Given the description of an element on the screen output the (x, y) to click on. 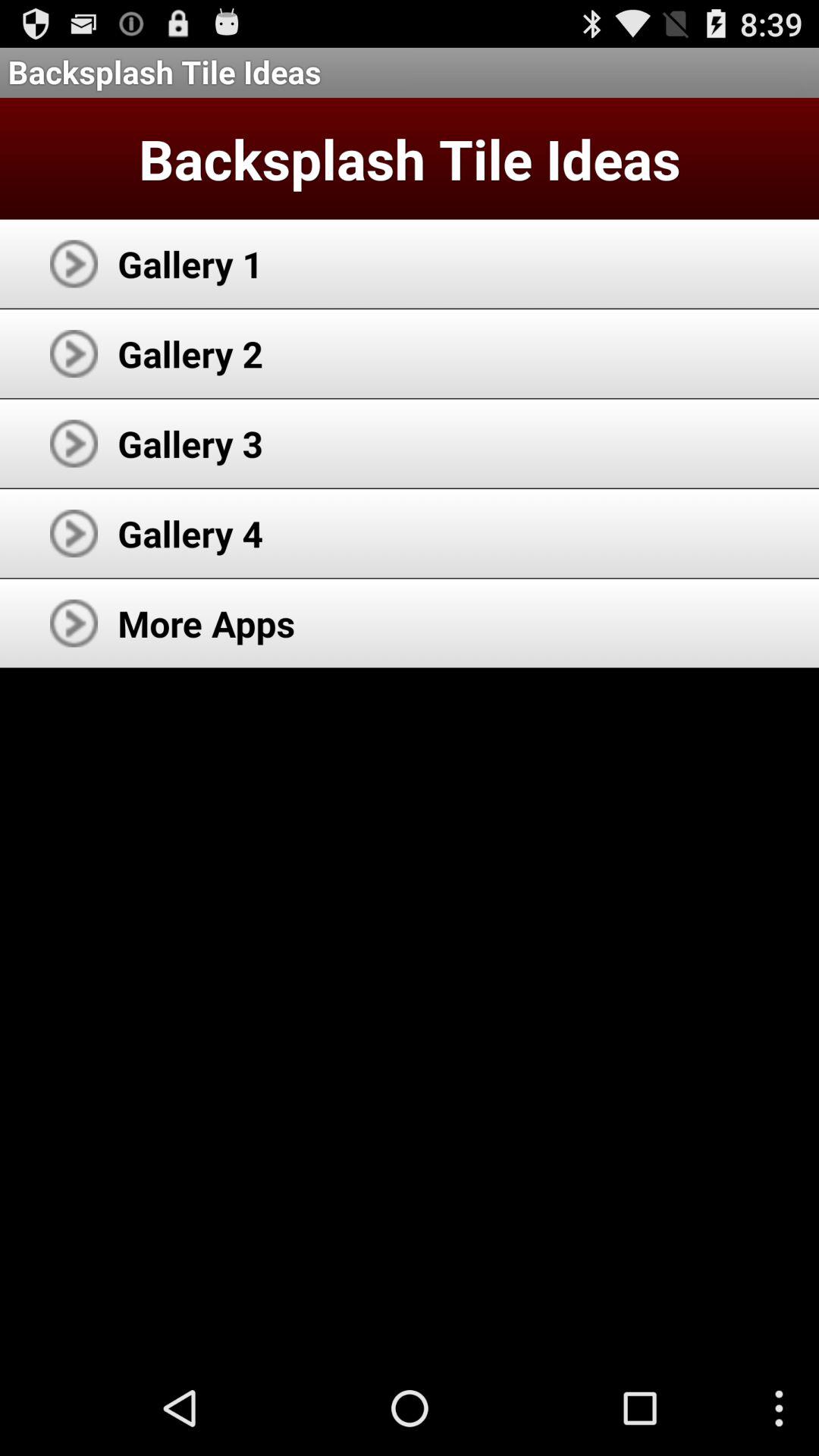
turn on gallery 3 app (190, 443)
